Given the description of an element on the screen output the (x, y) to click on. 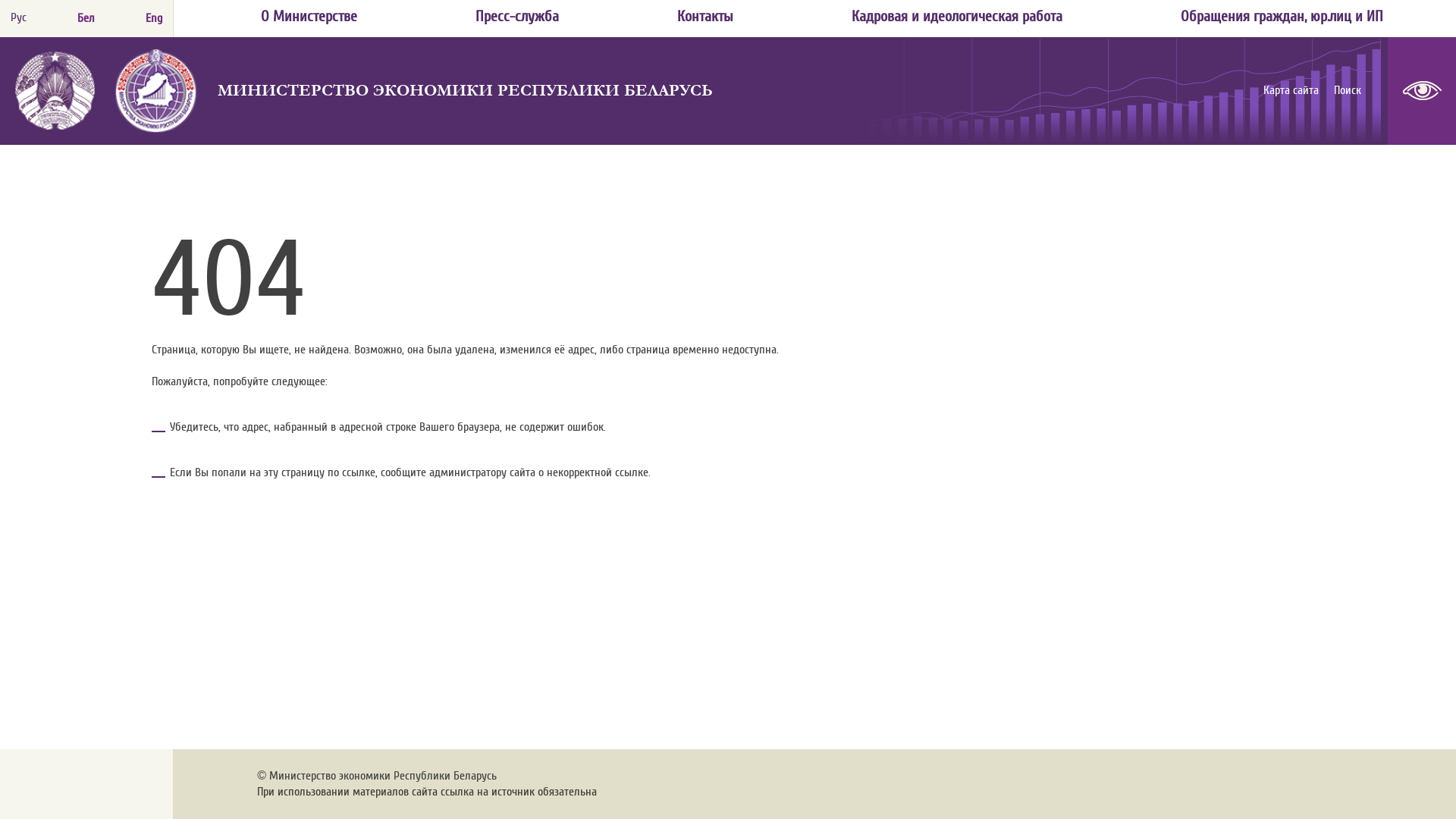
Eng Element type: text (153, 18)
